Given the description of an element on the screen output the (x, y) to click on. 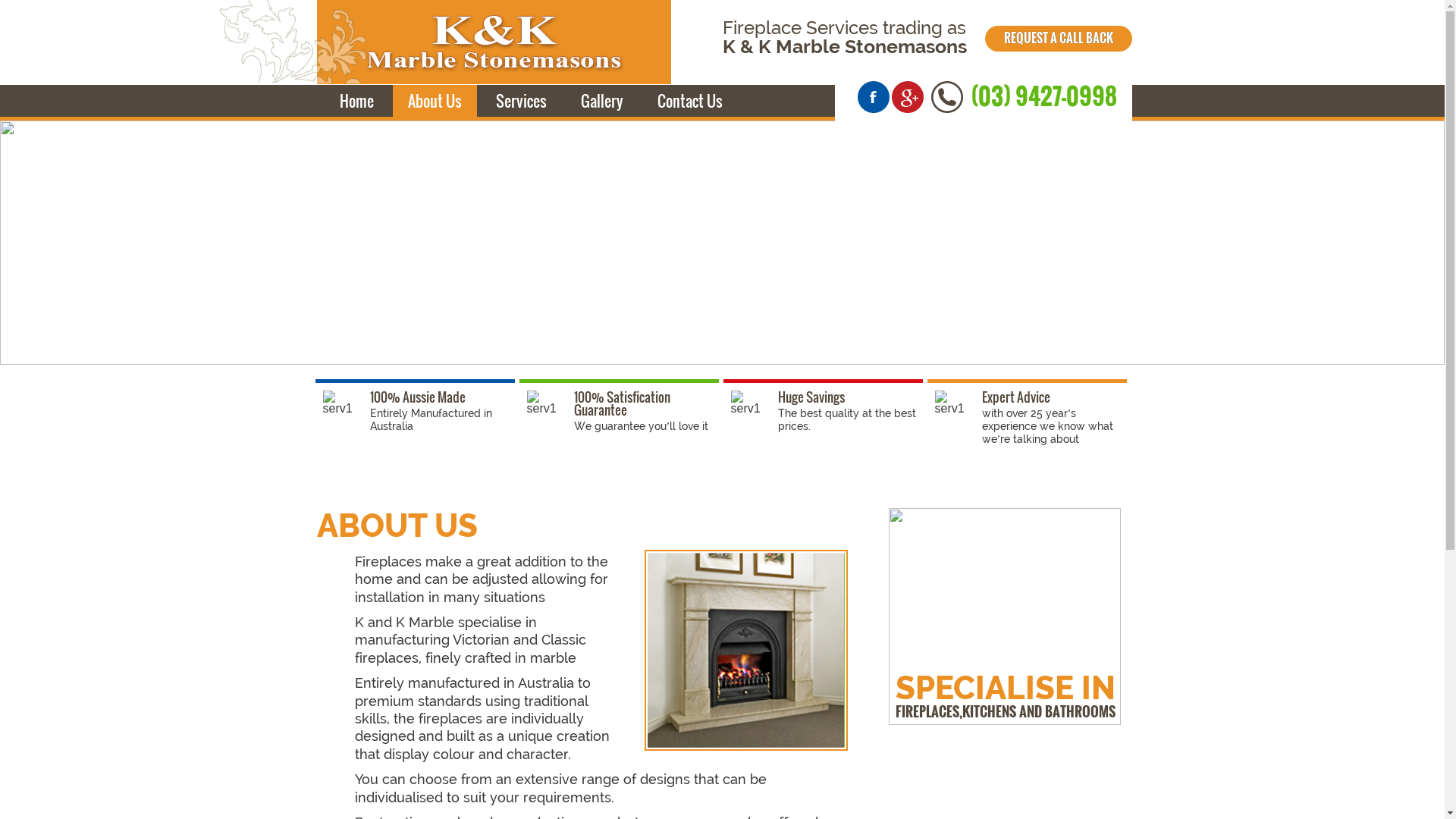
Contact Us Element type: text (689, 100)
Services Element type: text (520, 100)
About Us Element type: text (434, 100)
Gallery Element type: text (601, 100)
REQUEST A CALL BACK Element type: text (1058, 37)
(03) 9427-0998 Element type: text (1043, 95)
Home Element type: text (356, 100)
